Given the description of an element on the screen output the (x, y) to click on. 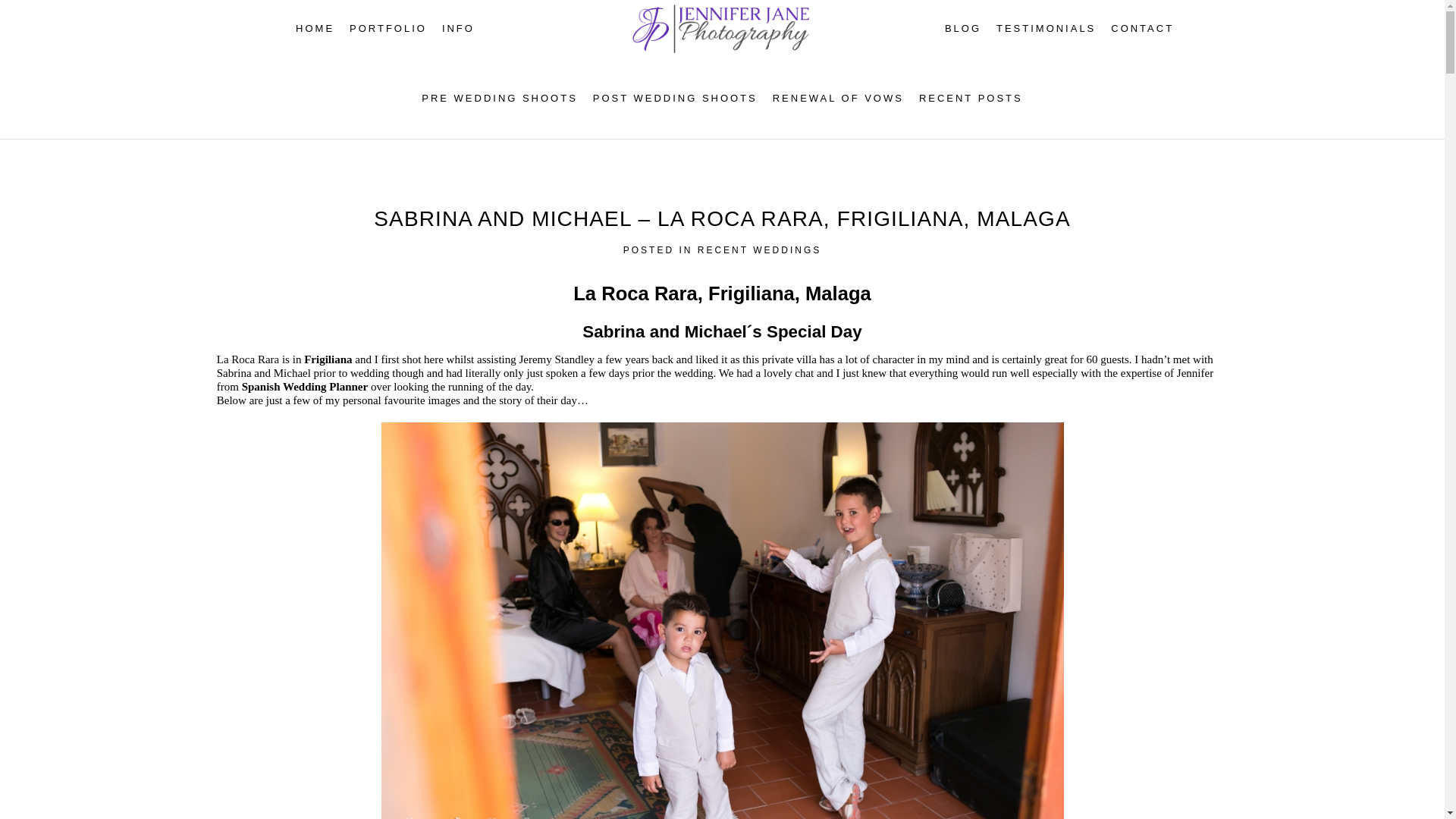
POST WEDDING SHOOTS (674, 98)
CONTACT (1141, 28)
HOME (314, 28)
PORTFOLIO (387, 28)
BLOG (962, 28)
TESTIMONIALS (1045, 28)
RENEWAL OF VOWS (838, 98)
INFO (458, 28)
PRE WEDDING SHOOTS (500, 98)
